Given the description of an element on the screen output the (x, y) to click on. 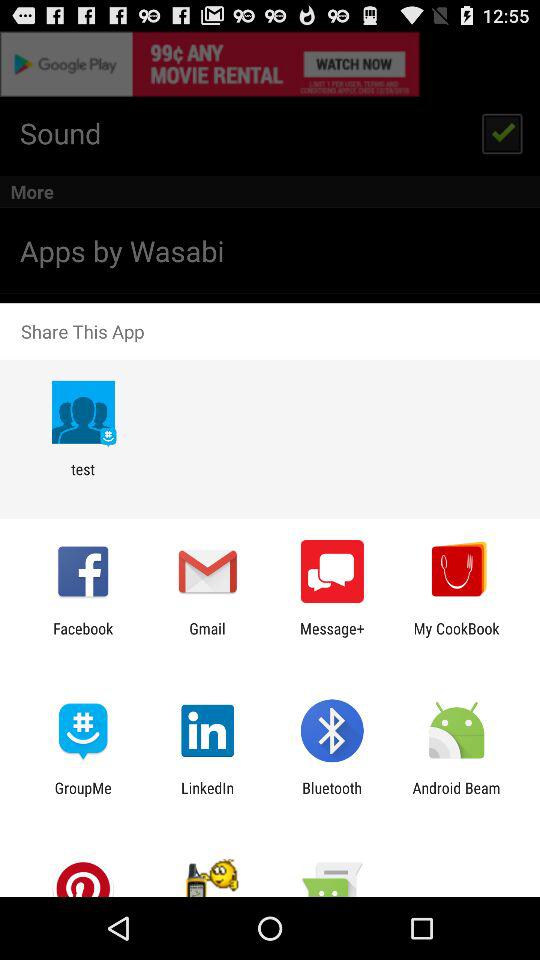
choose item to the right of bluetooth app (456, 796)
